Given the description of an element on the screen output the (x, y) to click on. 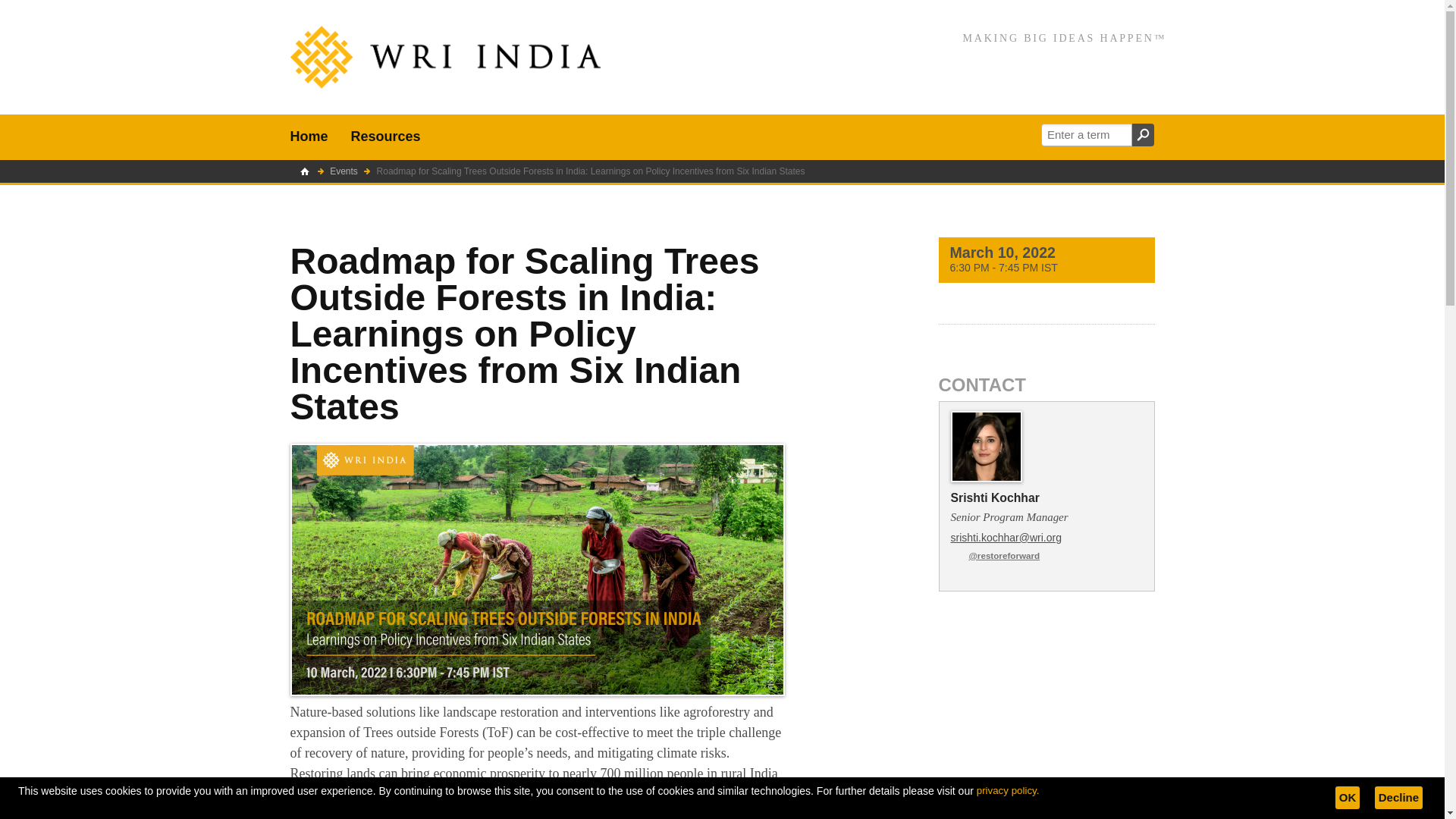
Buscar (1142, 134)
Skip to main content (56, 10)
Home (309, 136)
Resources (385, 136)
Events (344, 171)
Decline (1398, 797)
Buscar (1142, 134)
Srishti Kochhar (994, 497)
OK (1347, 797)
privacy policy. (1007, 791)
